Given the description of an element on the screen output the (x, y) to click on. 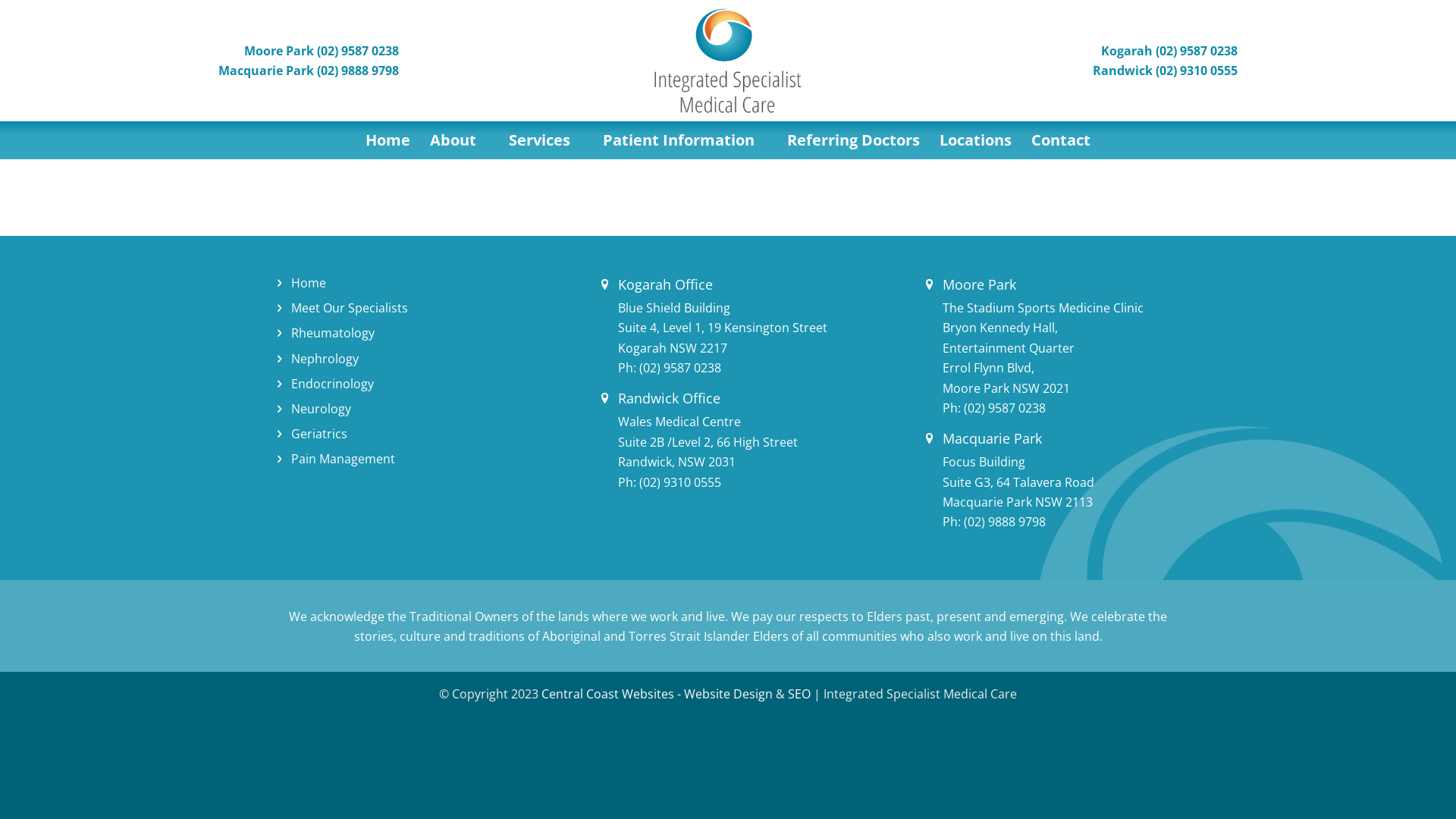
Services Element type: text (545, 140)
Home Element type: text (387, 140)
(02) 9888 9798 Element type: text (1004, 521)
Endocrinology Element type: text (332, 383)
(02) 9587 0238 Element type: text (1004, 407)
Geriatrics Element type: text (319, 433)
Locations Element type: text (975, 140)
About Element type: text (459, 140)
Referring Doctors Element type: text (853, 140)
Patient Information Element type: text (685, 140)
Rheumatology Element type: text (332, 332)
Neurology Element type: text (321, 408)
Meet Our Specialists Element type: text (349, 307)
(02) 9310 0555 Element type: text (680, 481)
Contact Element type: text (1060, 140)
SEO Element type: text (798, 693)
Pain Management Element type: text (343, 458)
Nephrology Element type: text (324, 358)
Home Element type: text (308, 282)
Central Coast Websites - Website Design Element type: text (656, 693)
(02) 9587 0238 Element type: text (680, 367)
